Given the description of an element on the screen output the (x, y) to click on. 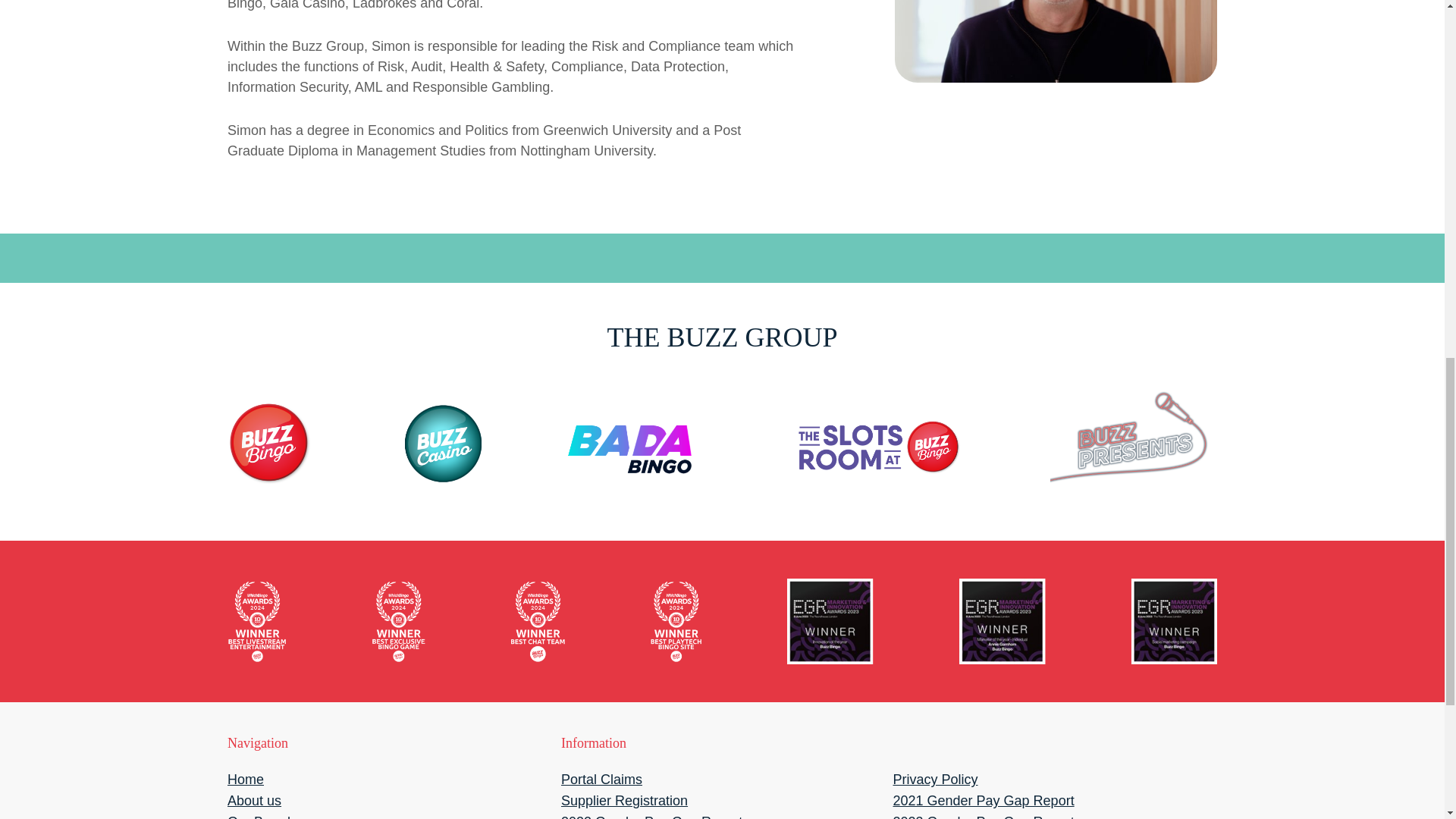
2023 Gender Pay Gap Report (983, 816)
Supplier Registration (623, 800)
Home (245, 779)
Privacy Policy (934, 779)
2022 Gender Pay Gap Report (651, 816)
Our Brands (262, 816)
About us (254, 800)
2021 Gender Pay Gap Report (983, 800)
Portal Claims (601, 779)
